Given the description of an element on the screen output the (x, y) to click on. 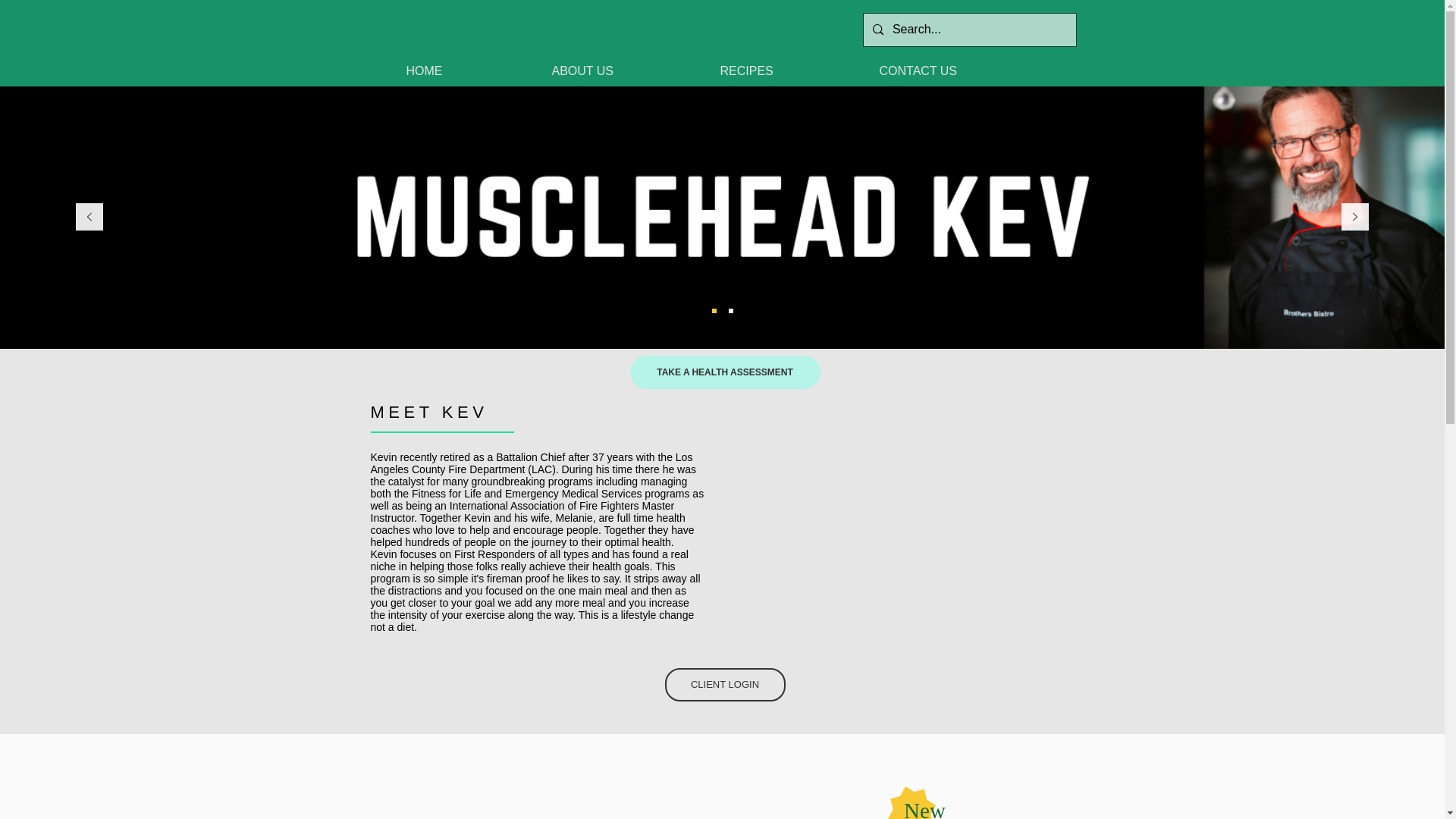
CLIENT LOGIN (723, 684)
CONTACT US (956, 71)
TAKE A HEALTH ASSESSMENT (723, 372)
RECIPES (787, 71)
HOME (467, 71)
